Given the description of an element on the screen output the (x, y) to click on. 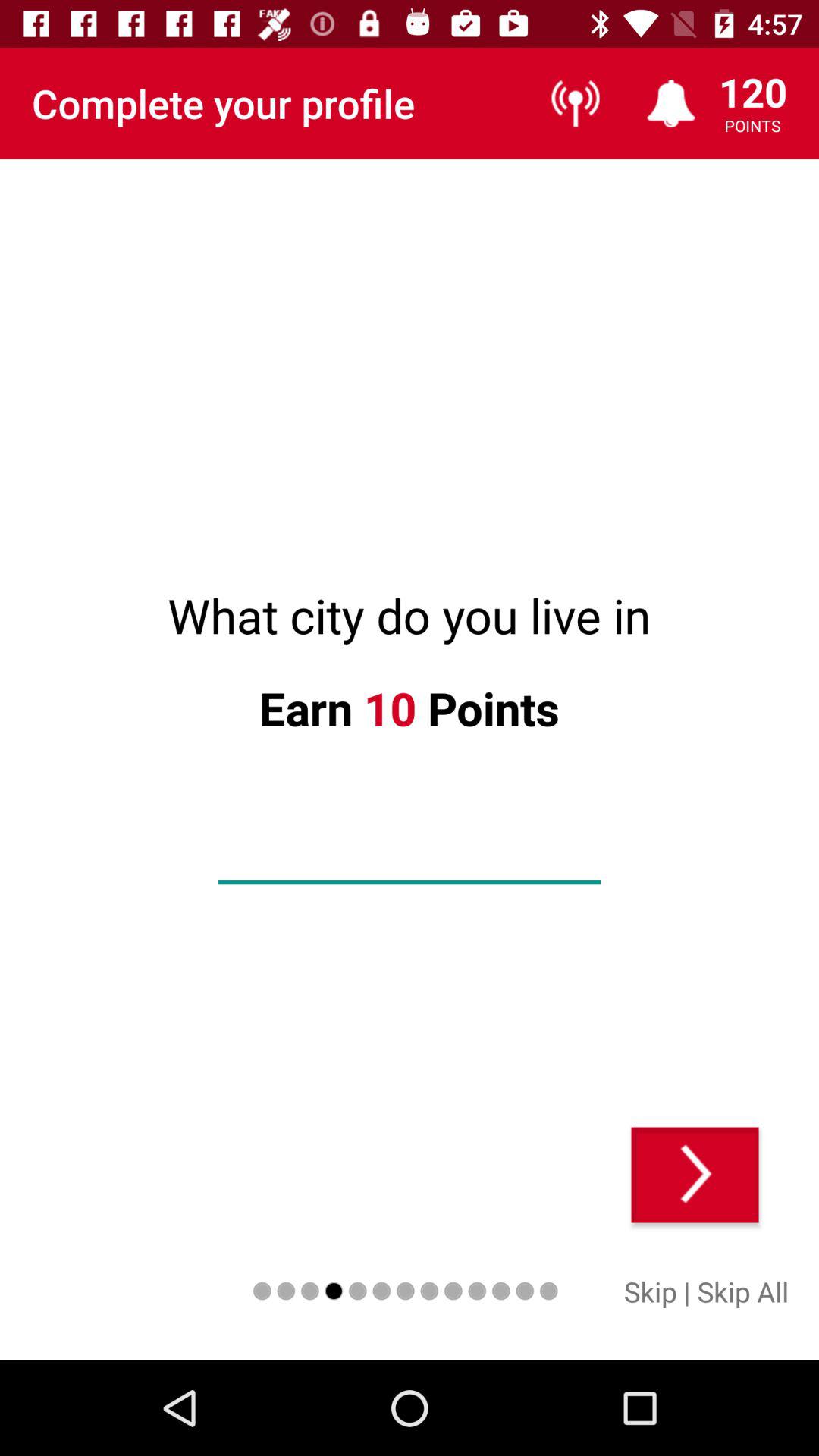
continue (694, 1174)
